Given the description of an element on the screen output the (x, y) to click on. 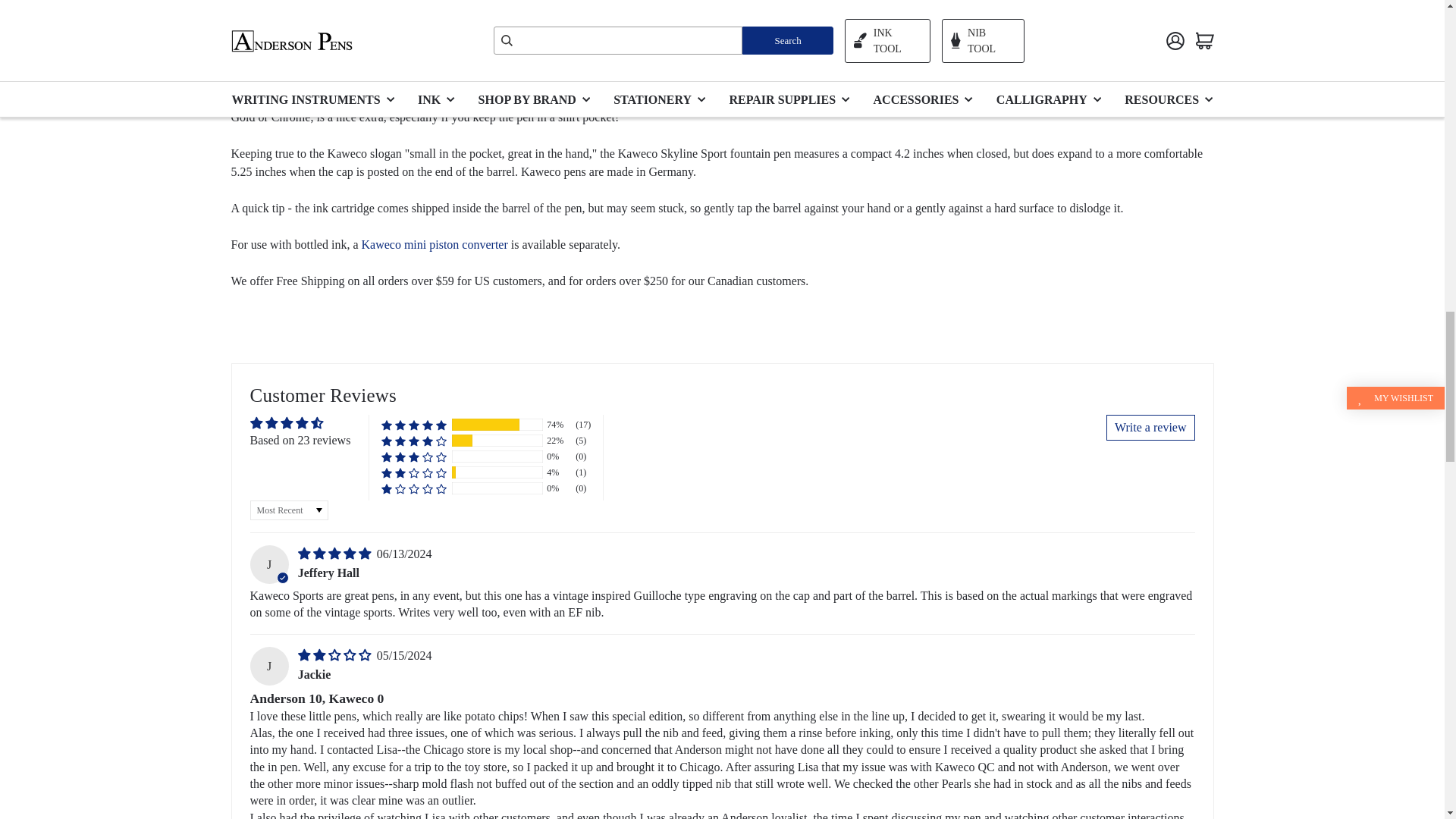
Kaweco mini converter (433, 244)
Kaweco add-on clip (829, 98)
